Given the description of an element on the screen output the (x, y) to click on. 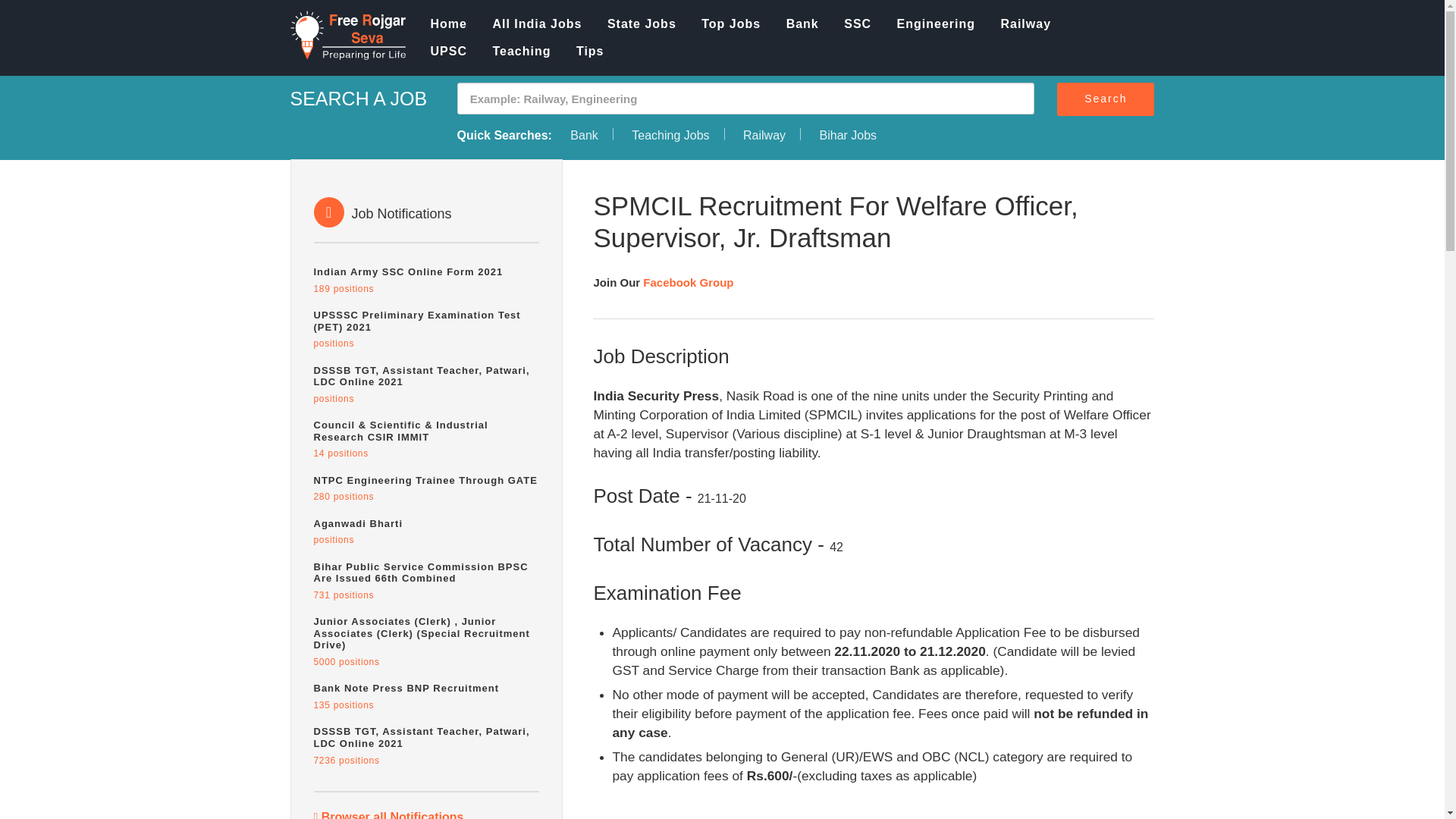
Bihar Jobs (427, 531)
Home (847, 134)
State Jobs (449, 23)
Top Jobs (641, 23)
All India Jobs (427, 488)
Tips (427, 280)
Railway (730, 23)
Browser all Notifications (536, 23)
Engineering (585, 51)
Bank (1026, 23)
